Given the description of an element on the screen output the (x, y) to click on. 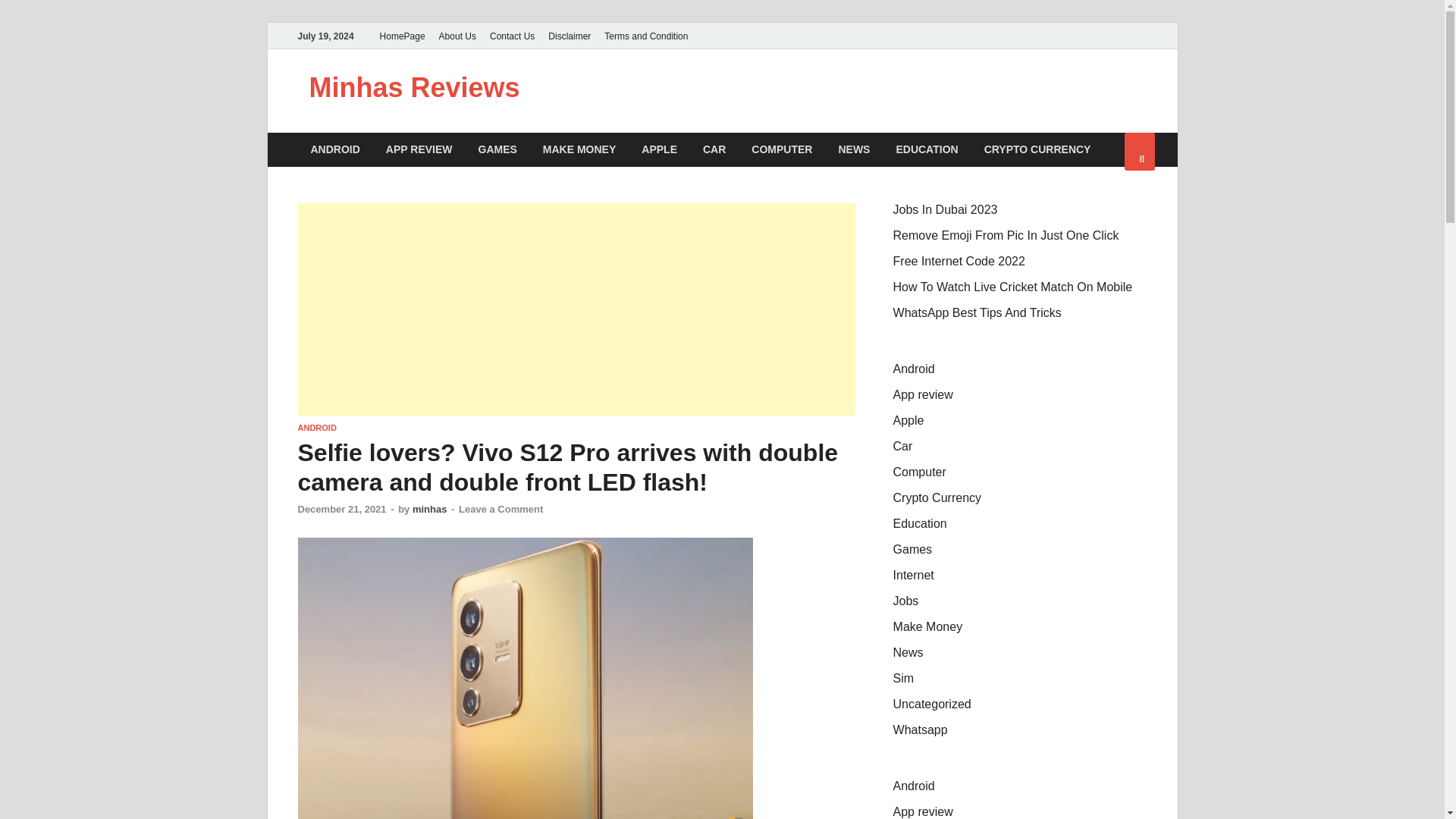
Contact Us (512, 35)
December 21, 2021 (341, 509)
Terms and Condition (645, 35)
ANDROID (316, 427)
Disclaimer (568, 35)
APP REVIEW (418, 149)
minhas (429, 509)
Advertisement (575, 309)
GAMES (497, 149)
ANDROID (334, 149)
NEWS (853, 149)
COMPUTER (781, 149)
CRYPTO CURRENCY (1037, 149)
HomePage (402, 35)
Minhas Reviews (413, 87)
